Given the description of an element on the screen output the (x, y) to click on. 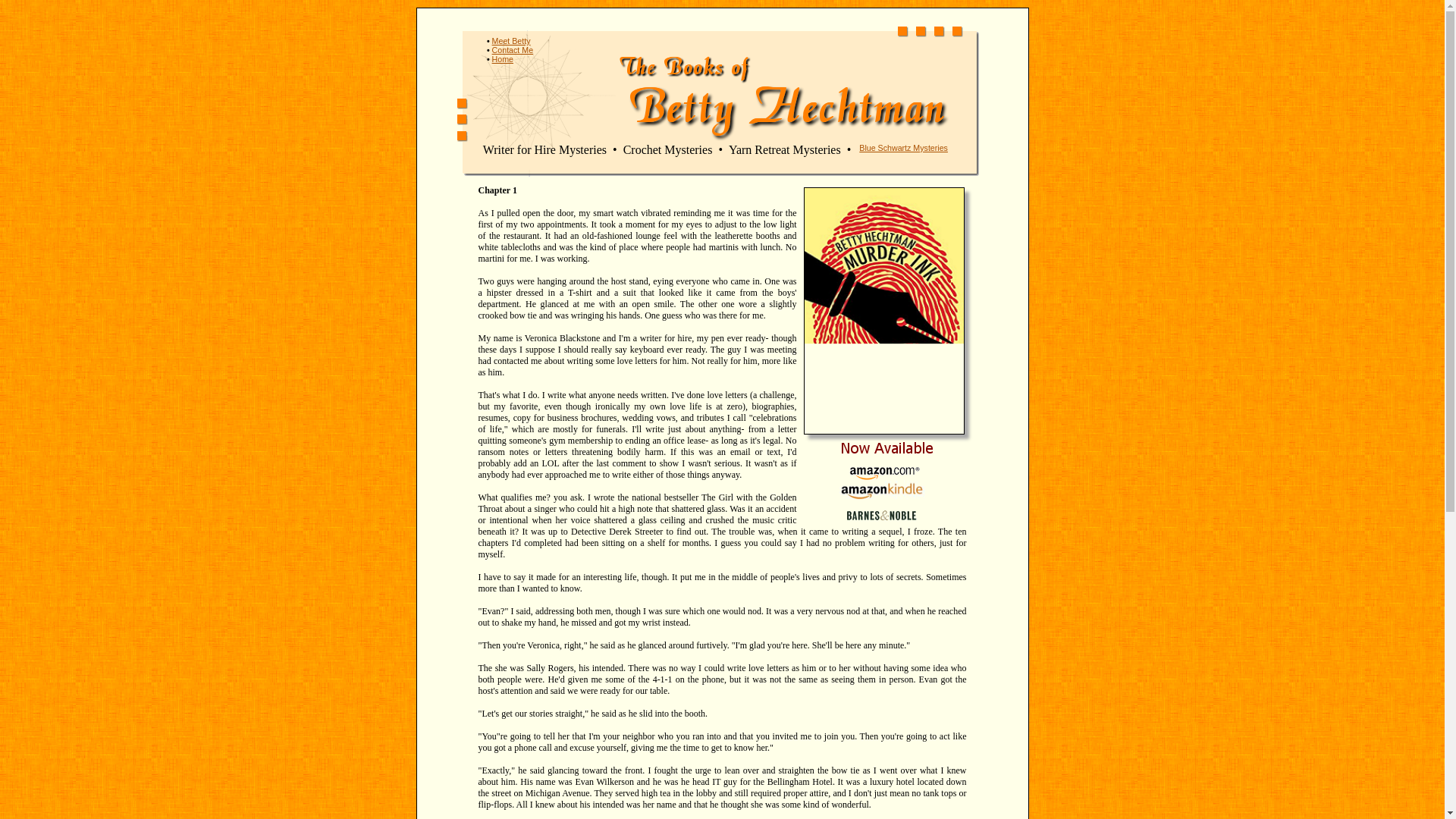
Meet Betty (511, 40)
Yarn Retreat Mysteries (785, 149)
Crochet Mysteries (668, 149)
Writer for Hire Mysteries (545, 149)
Contact Me (513, 49)
Blue Schwartz Mysteries (903, 147)
Home (502, 58)
